Given the description of an element on the screen output the (x, y) to click on. 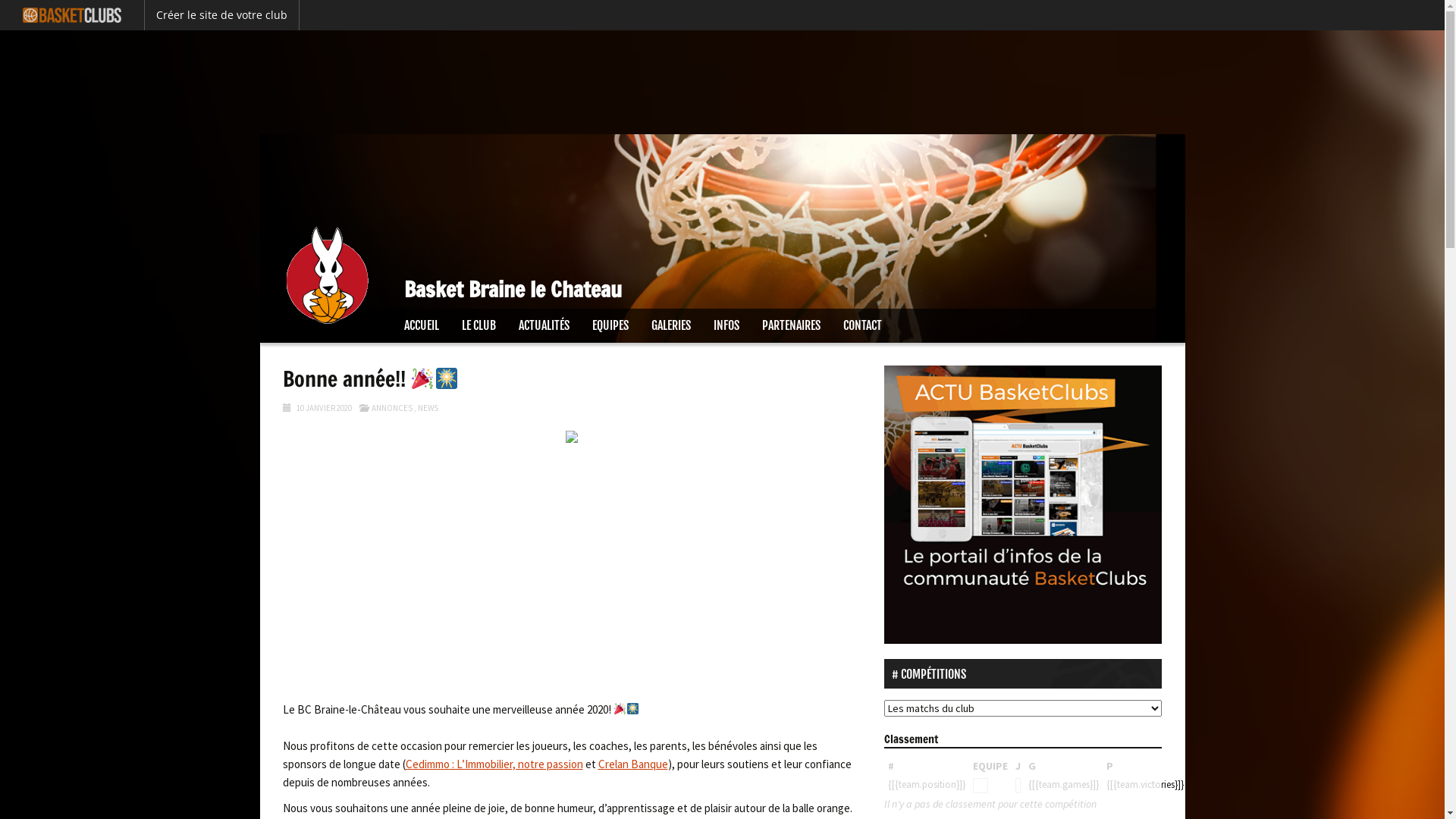
GALERIES Element type: text (671, 325)
NEWS Element type: text (427, 407)
PARTENAIRES Element type: text (790, 325)
Passer au contenu Element type: text (303, 317)
EQUIPES Element type: text (610, 325)
CONTACT Element type: text (861, 325)
INFOS Element type: text (726, 325)
Basket Braine le Chateau Element type: text (721, 221)
Crelan Banque Element type: text (632, 763)
Advertisement Element type: hover (721, 79)
ACCUEIL Element type: text (421, 325)
LE CLUB Element type: text (478, 325)
Advertisement Element type: hover (571, 564)
ANNONCES Element type: text (391, 407)
